Given the description of an element on the screen output the (x, y) to click on. 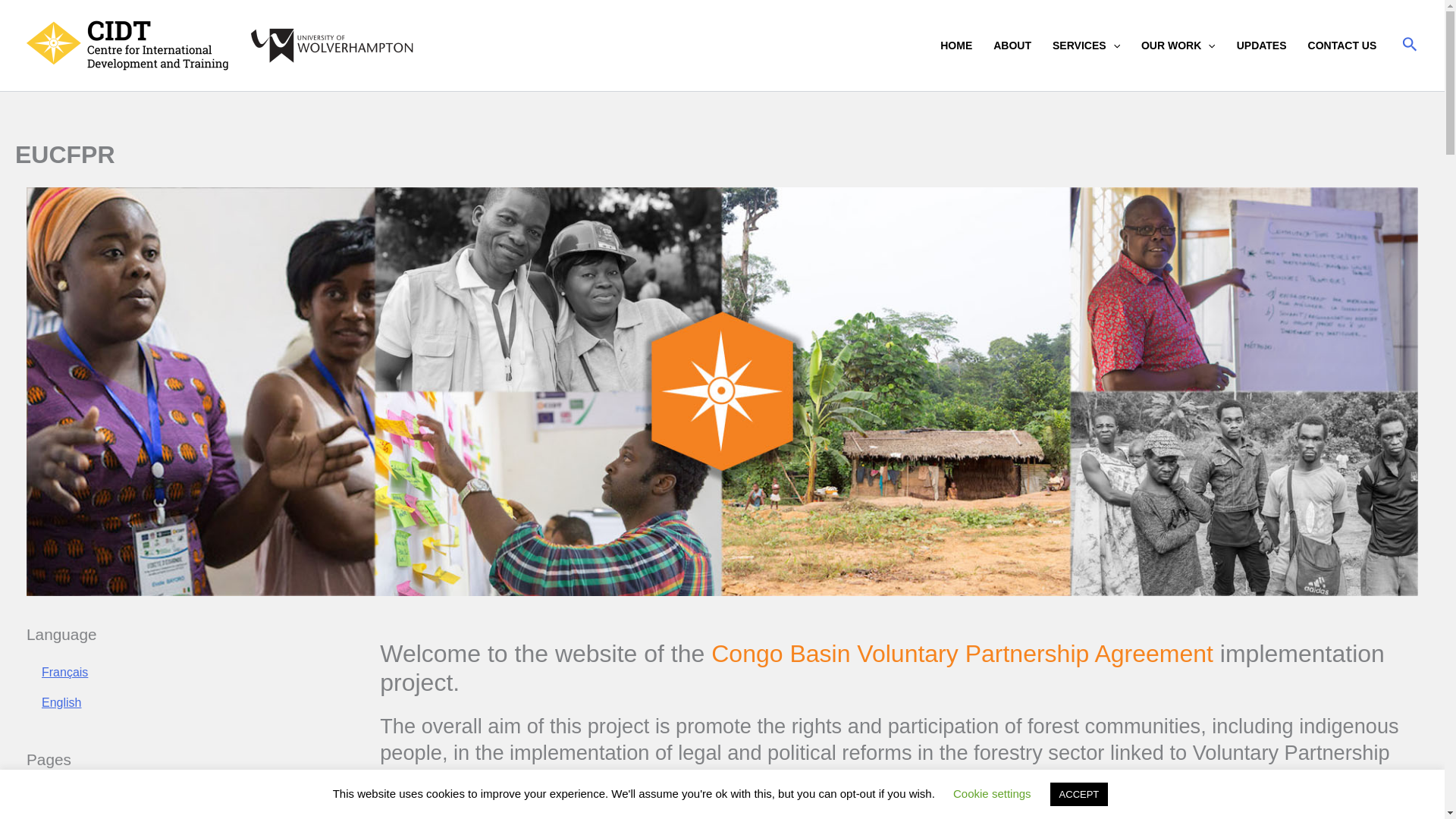
UPDATES (1261, 45)
OUR WORK (1178, 45)
CONTACT US (1342, 45)
English (61, 702)
SERVICES (1086, 45)
ABOUT (1012, 45)
Country Context (85, 797)
